Given the description of an element on the screen output the (x, y) to click on. 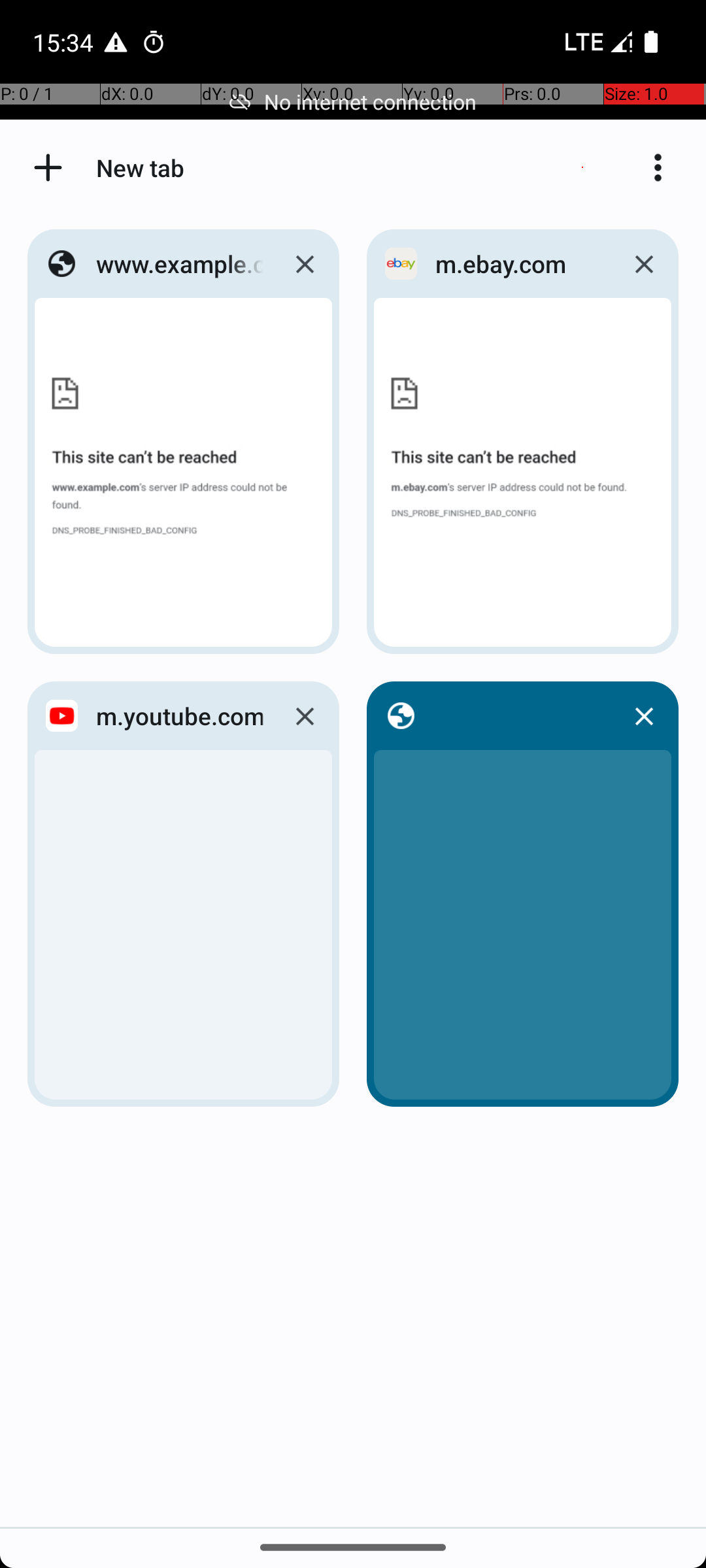
www.example.com Element type: android.widget.TextView (179, 263)
Close www.example.com tab Element type: android.widget.ImageView (304, 263)
m.ebay.com Element type: android.widget.TextView (518, 263)
Close m.ebay.com tab Element type: android.widget.ImageView (643, 263)
m.youtube.com Element type: android.widget.TextView (179, 715)
Close m.youtube.com tab Element type: android.widget.ImageView (304, 715)
, tab Element type: android.widget.TextView (518, 715)
Close  tab Element type: android.widget.ImageView (643, 715)
New tab Element type: android.widget.ImageView (48, 167)
